Given the description of an element on the screen output the (x, y) to click on. 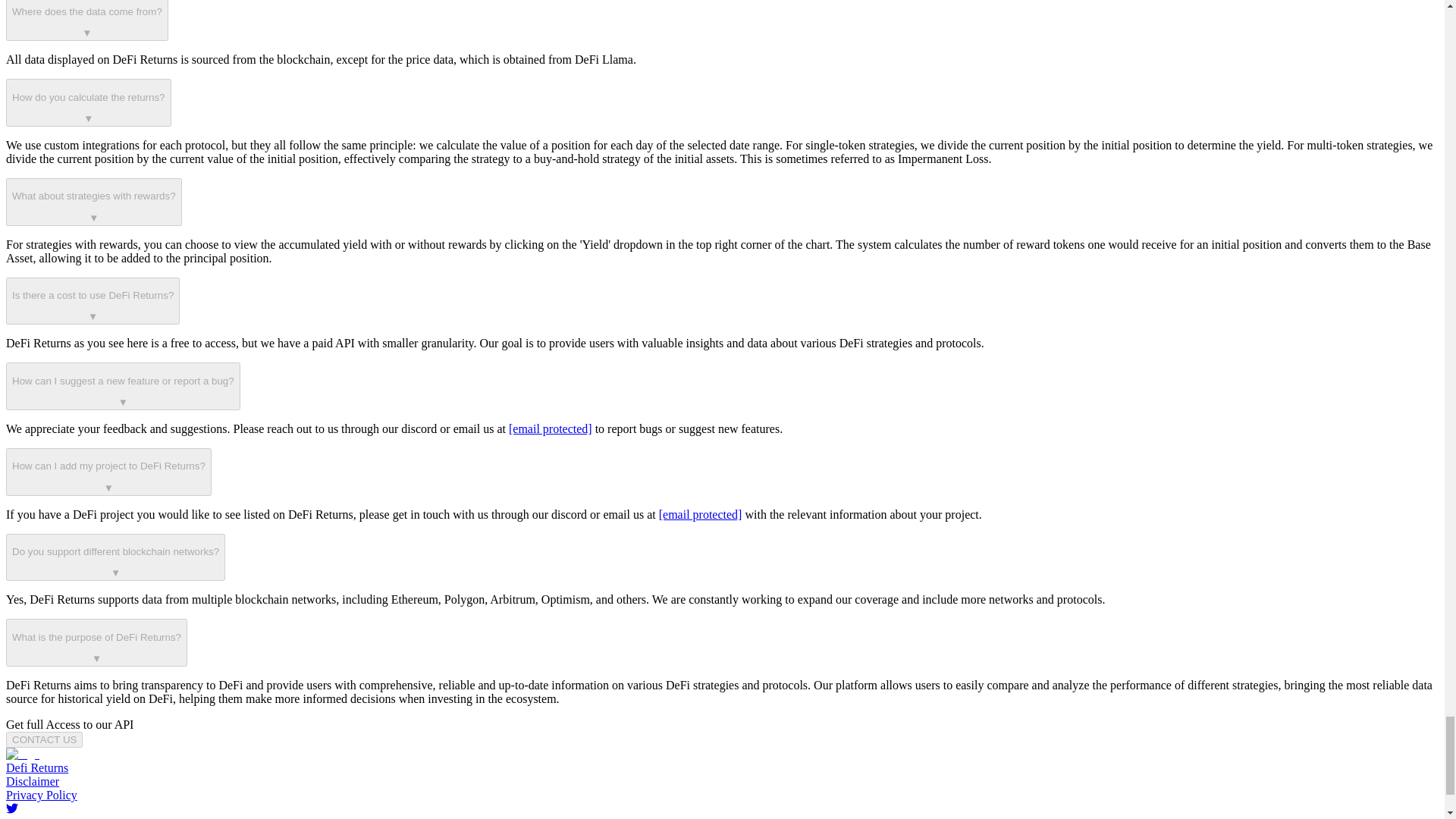
CONTACT US (43, 739)
Privacy Policy (41, 794)
Disclaimer (32, 780)
